Given the description of an element on the screen output the (x, y) to click on. 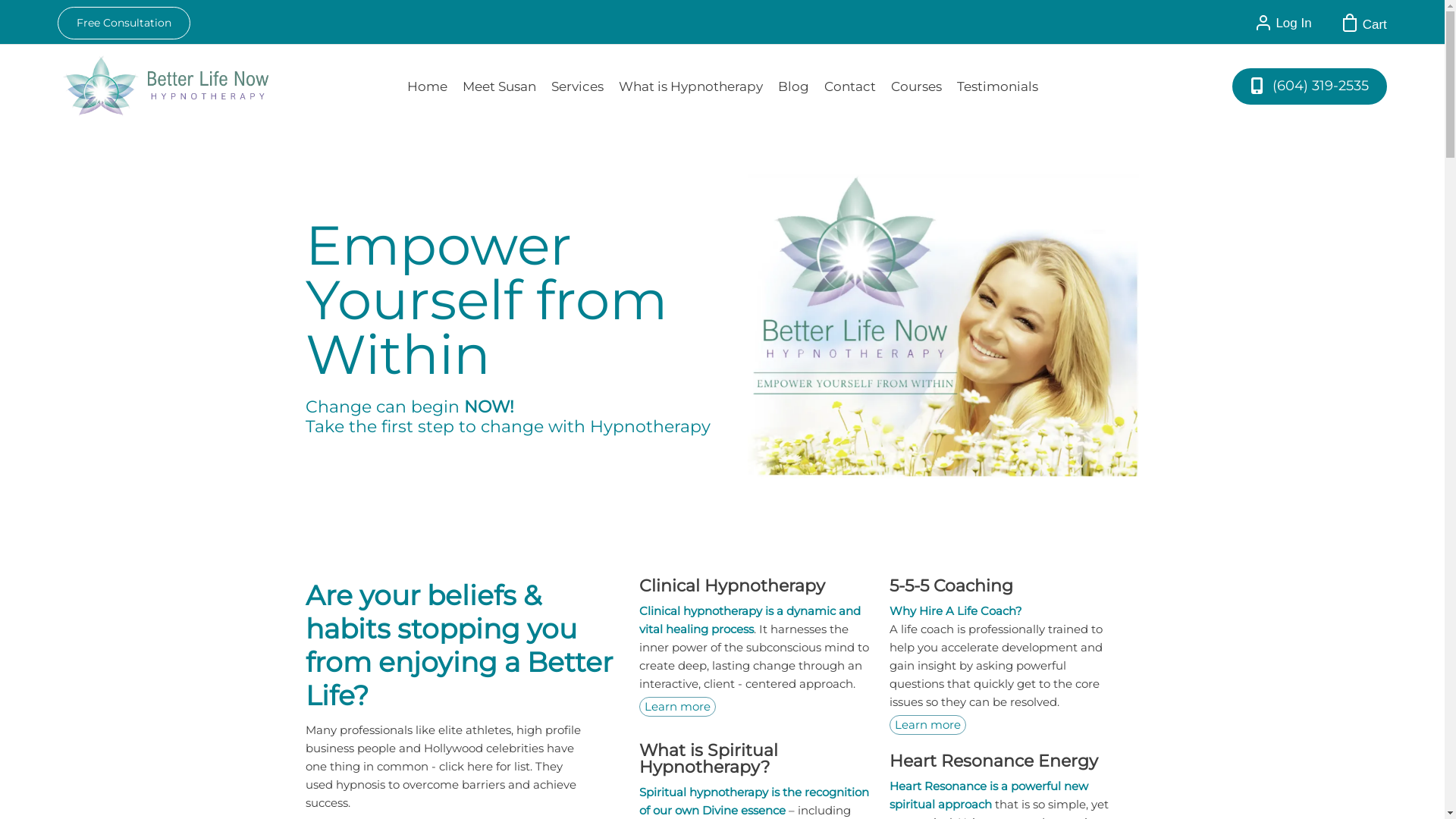
Learn more Element type: text (926, 724)
Services Element type: text (576, 86)
Learn more Element type: text (676, 706)
Home Element type: text (426, 86)
Blog Element type: text (793, 86)
Testimonials Element type: text (997, 86)
Contact Element type: text (848, 86)
(604) 319-2535 Element type: text (1309, 86)
Courses Element type: text (915, 86)
Free Consultation Element type: text (123, 22)
What is Hypnotherapy Element type: text (690, 86)
Meet Susan Element type: text (499, 86)
